Given the description of an element on the screen output the (x, y) to click on. 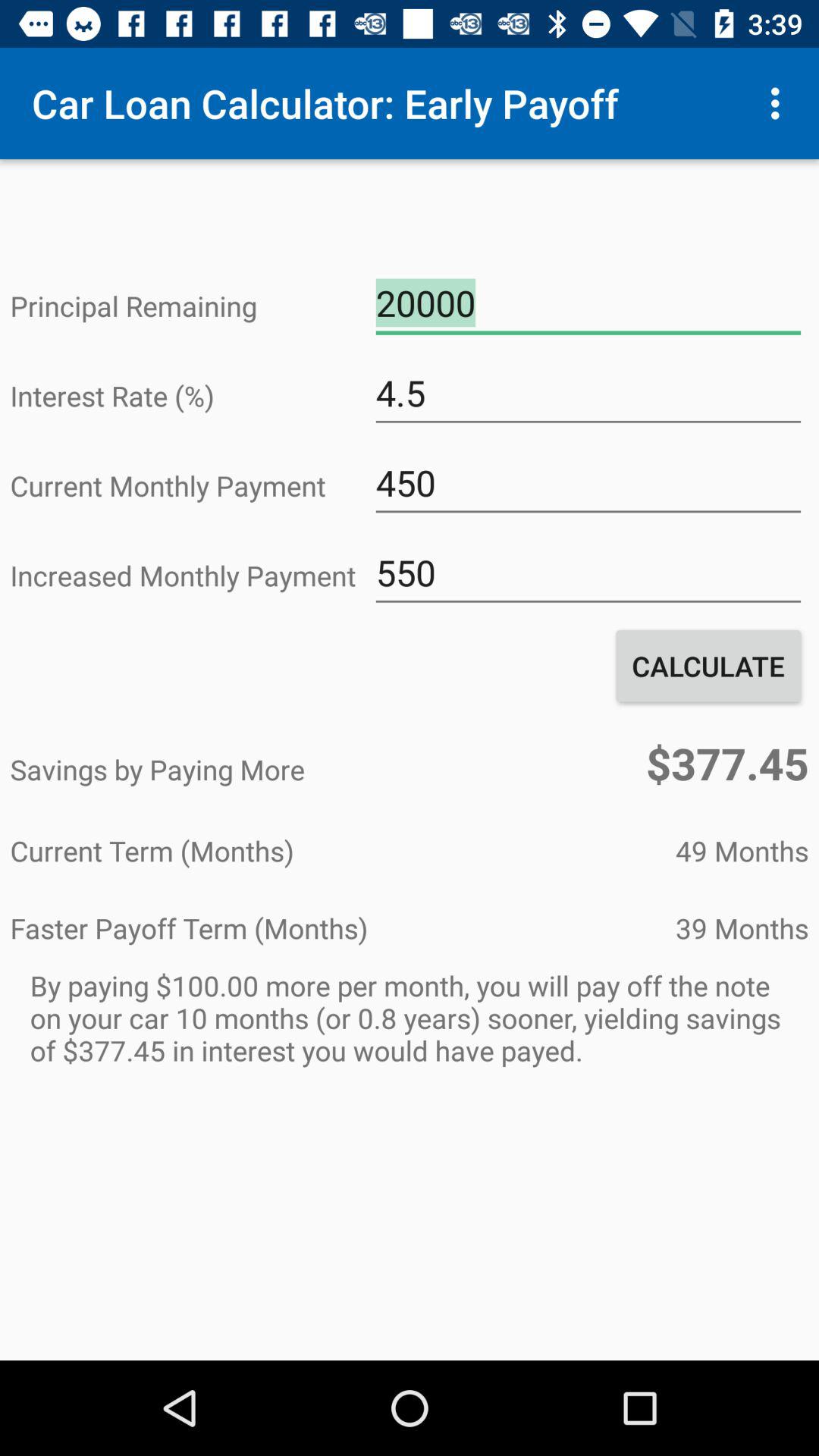
turn on the icon to the right of the current monthly payment icon (587, 483)
